Given the description of an element on the screen output the (x, y) to click on. 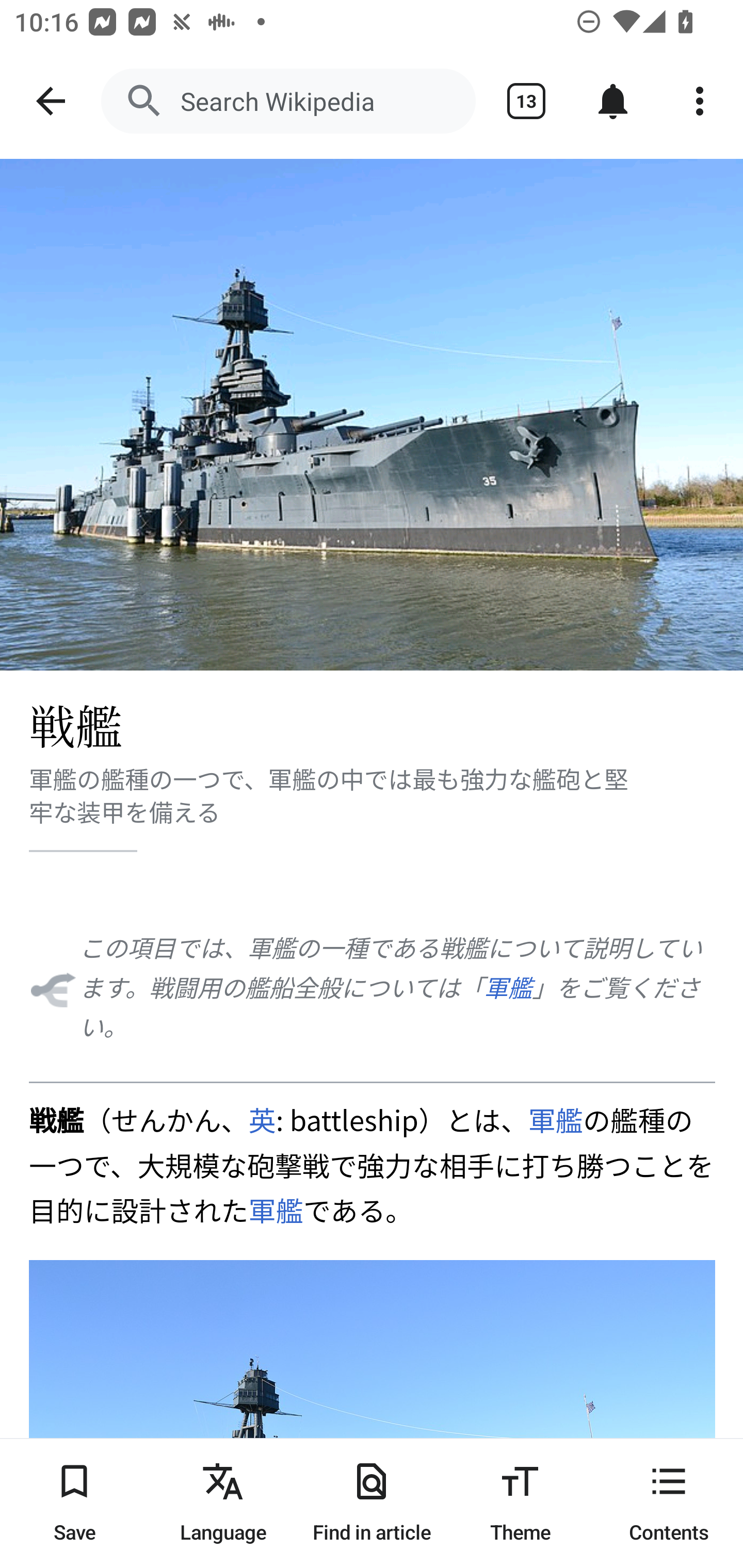
Show tabs 13 (525, 100)
Notifications (612, 100)
Navigate up (50, 101)
More options (699, 101)
Search Wikipedia (288, 100)
Image: 戦艦 (371, 414)
曖昧さ回避 (51, 986)
軍艦 (507, 986)
英 (261, 1119)
軍艦 (556, 1119)
軍艦 (275, 1210)
Save (74, 1502)
Language (222, 1502)
Find in article (371, 1502)
Theme (519, 1502)
Contents (668, 1502)
